Given the description of an element on the screen output the (x, y) to click on. 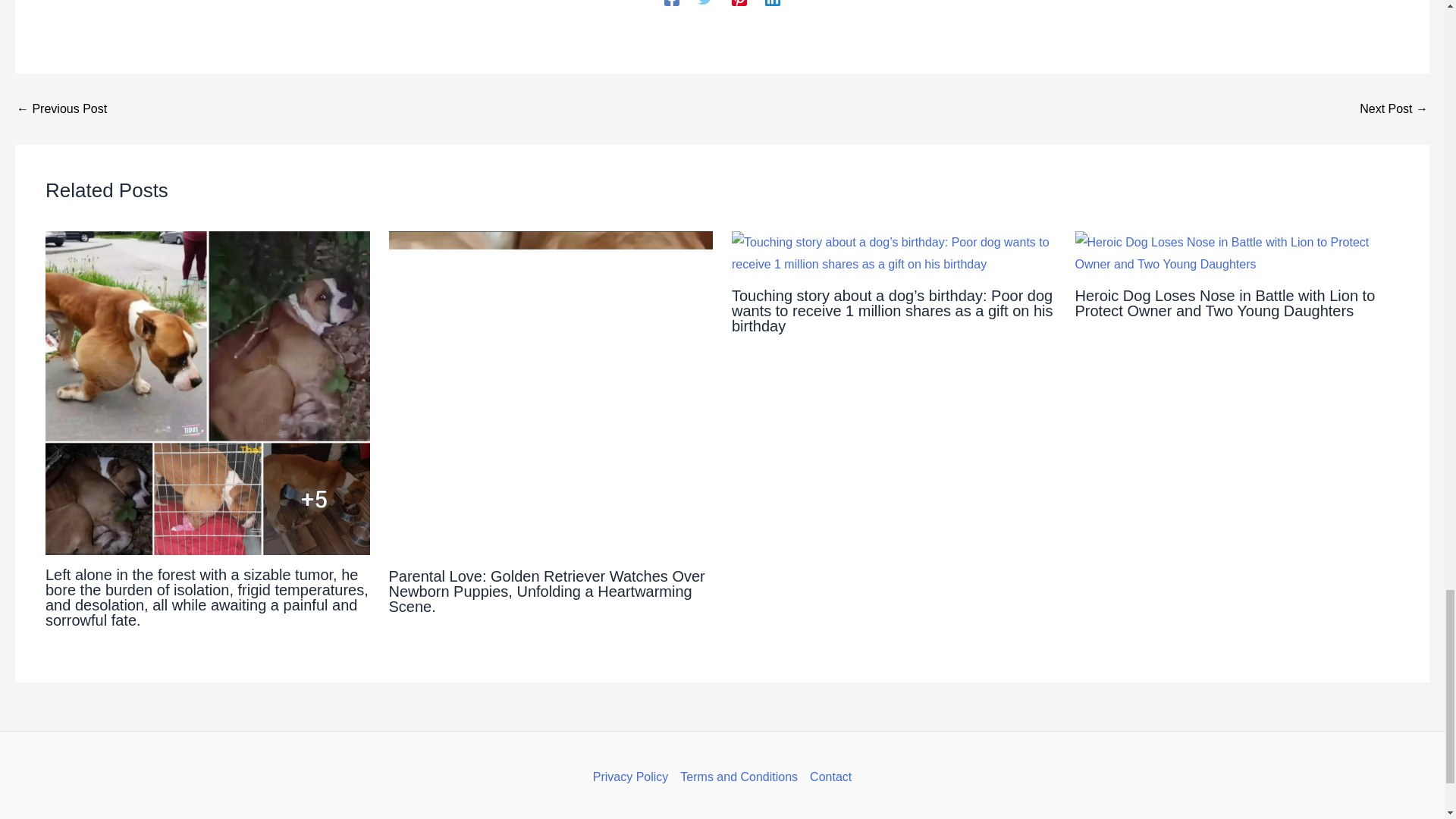
Contact (827, 776)
Privacy Policy (633, 776)
Terms and Conditions (738, 776)
